Given the description of an element on the screen output the (x, y) to click on. 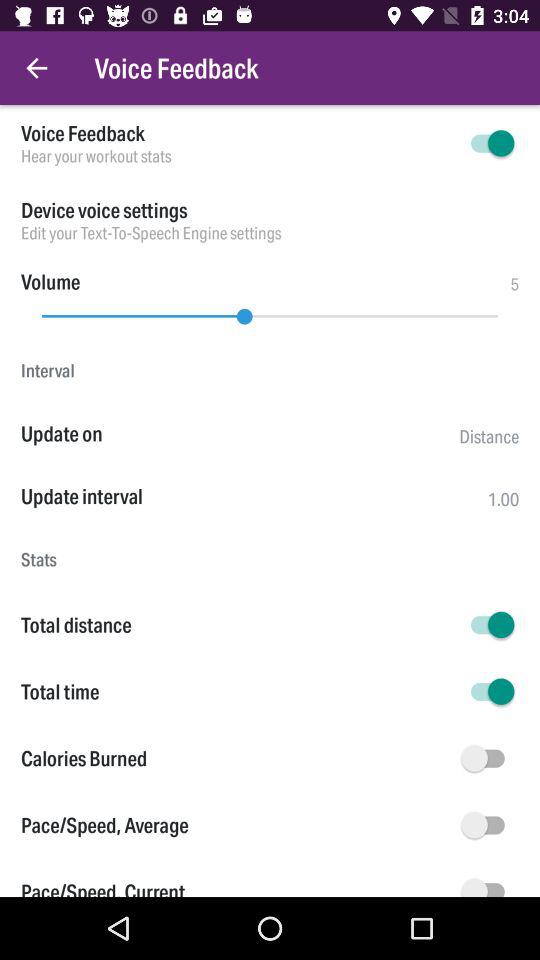
click item to the left of the 5 icon (50, 281)
